Given the description of an element on the screen output the (x, y) to click on. 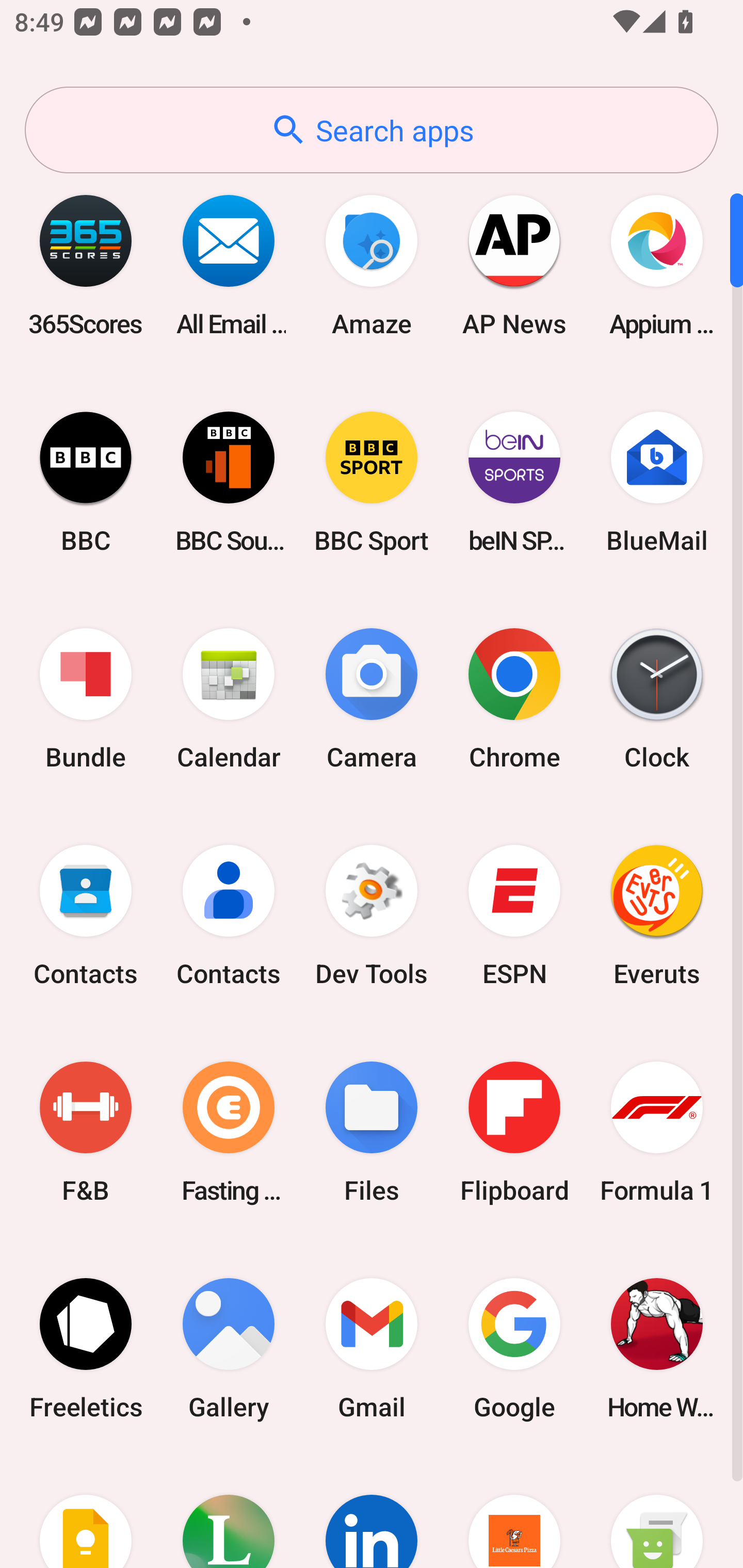
  Search apps (371, 130)
365Scores (85, 264)
All Email Connect (228, 264)
Amaze (371, 264)
AP News (514, 264)
Appium Settings (656, 264)
BBC (85, 482)
BBC Sounds (228, 482)
BBC Sport (371, 482)
beIN SPORTS (514, 482)
BlueMail (656, 482)
Bundle (85, 699)
Calendar (228, 699)
Camera (371, 699)
Chrome (514, 699)
Clock (656, 699)
Contacts (85, 915)
Contacts (228, 915)
Dev Tools (371, 915)
ESPN (514, 915)
Everuts (656, 915)
F&B (85, 1131)
Fasting Coach (228, 1131)
Files (371, 1131)
Flipboard (514, 1131)
Formula 1 (656, 1131)
Freeletics (85, 1348)
Gallery (228, 1348)
Gmail (371, 1348)
Google (514, 1348)
Home Workout (656, 1348)
Keep Notes (85, 1512)
Lifesum (228, 1512)
LinkedIn (371, 1512)
Little Caesars Pizza (514, 1512)
Messaging (656, 1512)
